Given the description of an element on the screen output the (x, y) to click on. 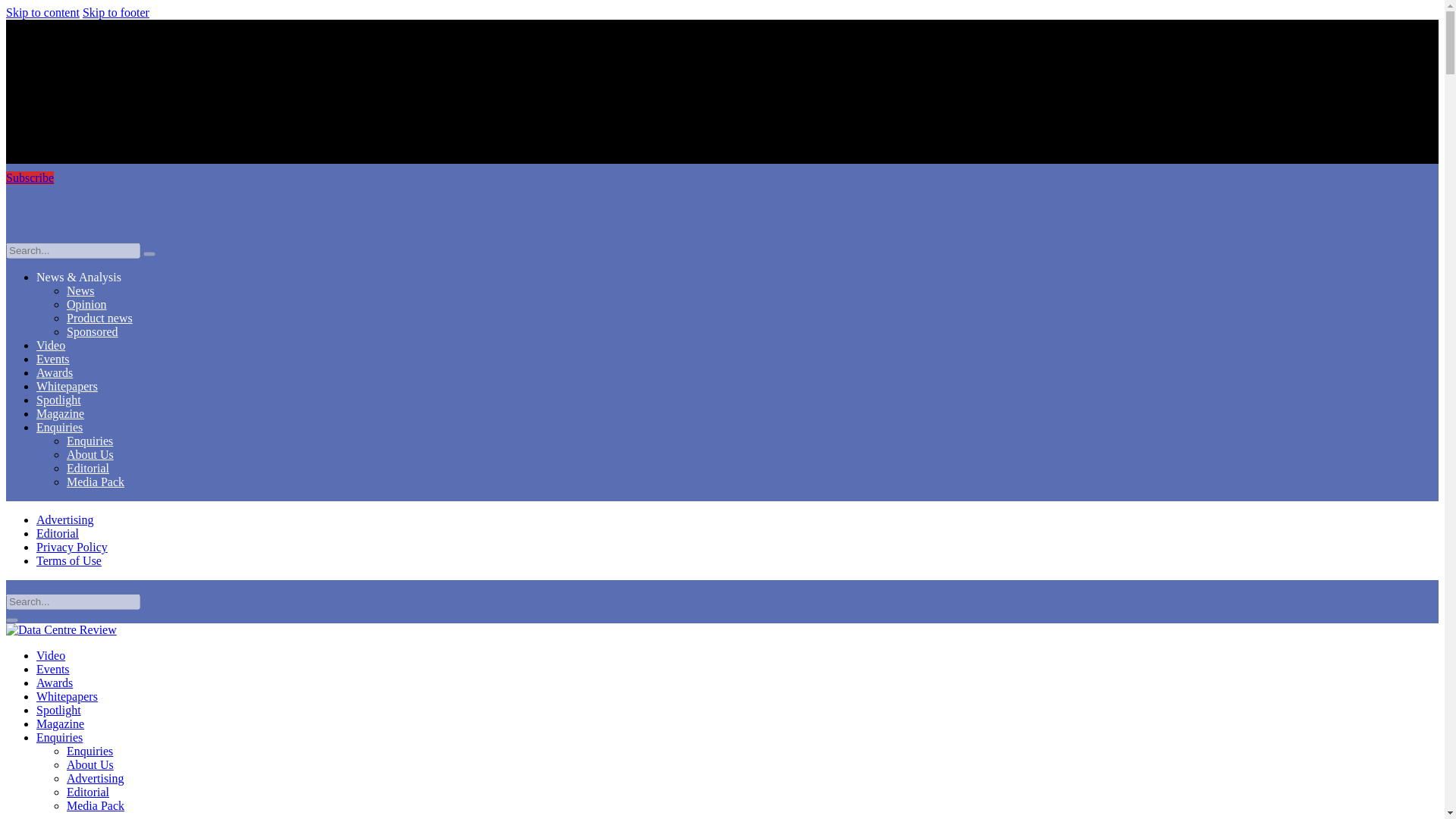
Events (52, 668)
Enquiries (59, 427)
DCR logo-white-2024-v1 (722, 213)
Magazine (60, 413)
Subscribe (29, 177)
Events (52, 358)
Enquiries (89, 440)
News (80, 290)
Spotlight (58, 709)
Whitepapers (66, 696)
